Given the description of an element on the screen output the (x, y) to click on. 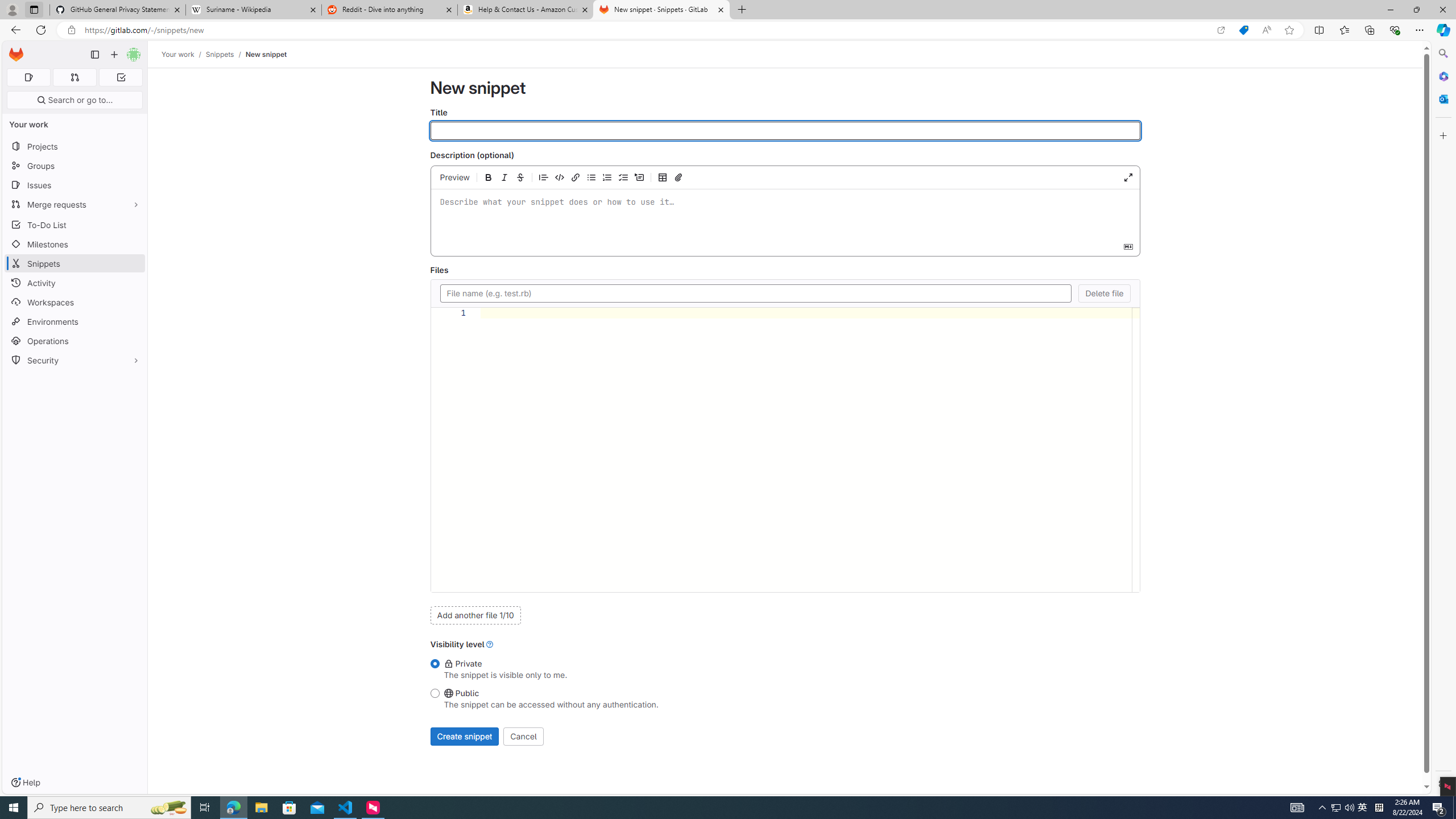
Add italic text (Ctrl+I) (504, 177)
Insert a quote (543, 177)
Environments (74, 321)
Go full screen (1128, 177)
Side bar (1443, 418)
